Given the description of an element on the screen output the (x, y) to click on. 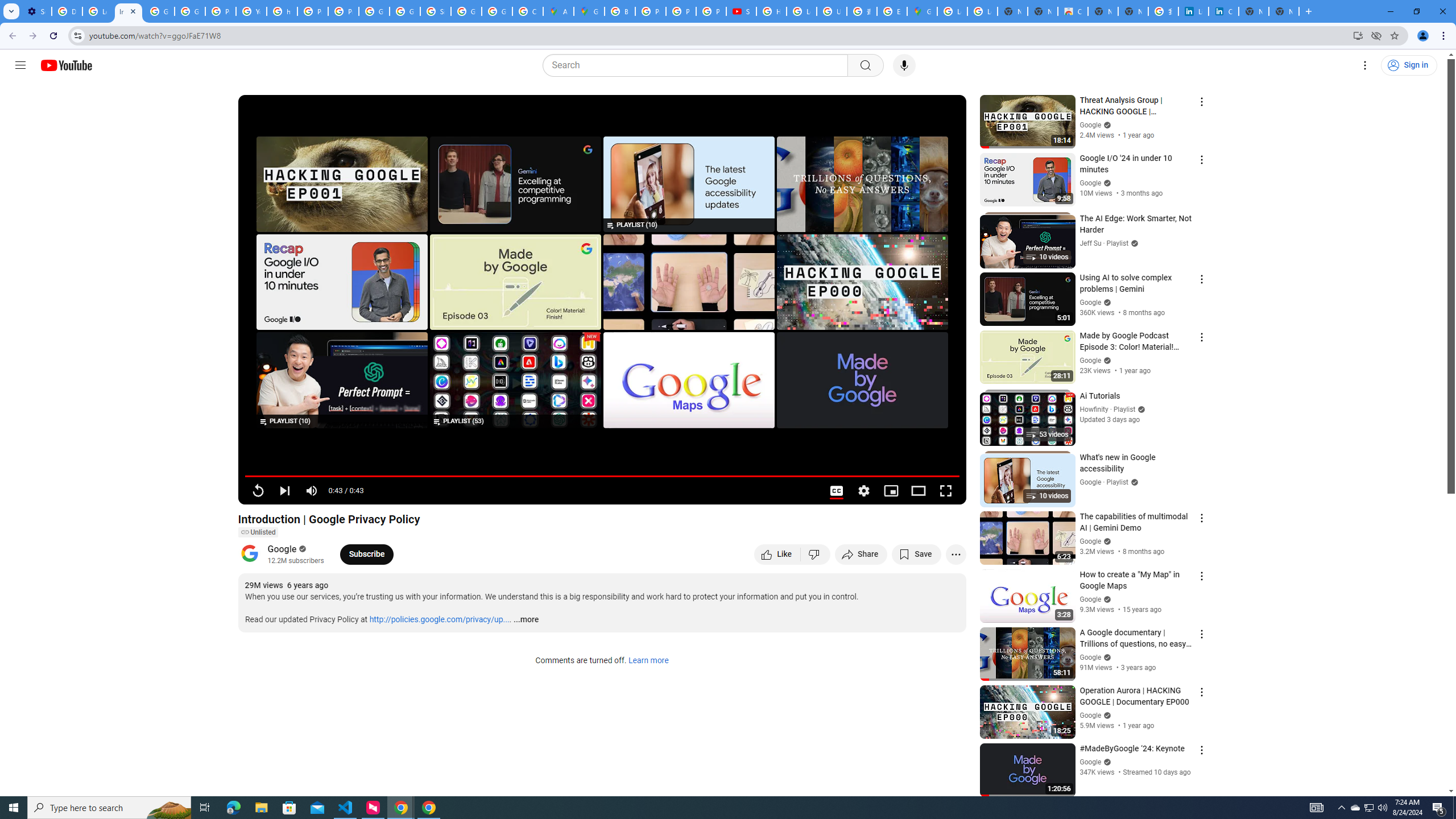
Dislike this video (815, 554)
Google Maps (922, 11)
Copyright Policy (1223, 11)
Watch What's new in Google accessibility (688, 183)
Theater mode (t) (917, 490)
Pause (k) (257, 490)
Full screen (f) (945, 490)
https://scholar.google.com/ (282, 11)
Action menu (1200, 749)
